Given the description of an element on the screen output the (x, y) to click on. 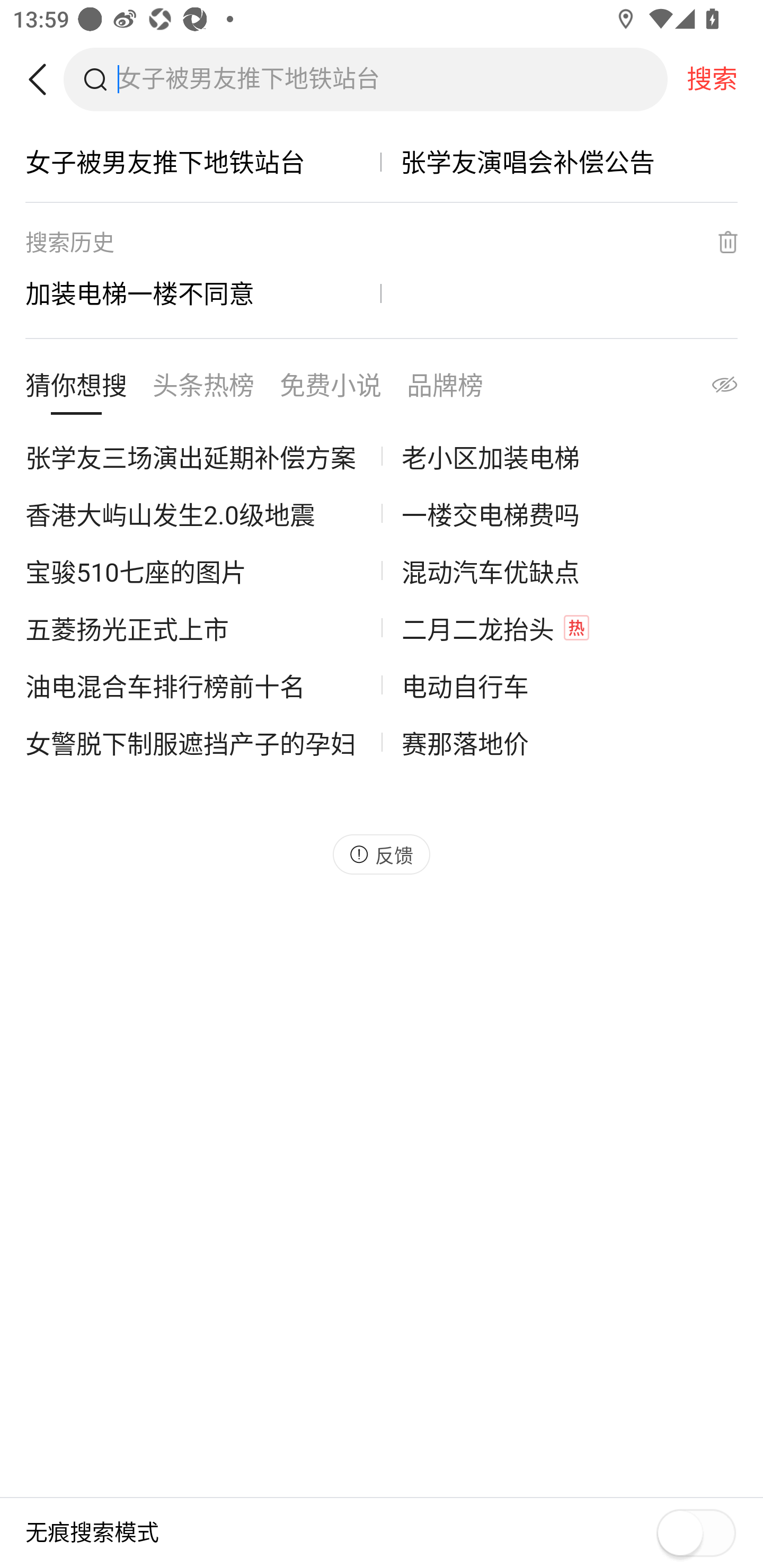
搜索框，女子被男友推下地铁站台 (392, 79)
搜索 (711, 79)
返回 (44, 79)
女子被男友推下地铁站台，链接, 女子被男友推下地铁站台 (203, 162)
张学友演唱会补偿公告，链接, 张学友演唱会补偿公告 (559, 162)
删除搜索历史 (716, 242)
加装电梯一楼不同意，链接, 加装电梯一楼不同意 (203, 292)
猜你想搜 按钮 已选中 (76, 389)
头条热榜 按钮 (203, 389)
免费小说 按钮 (330, 389)
品牌榜 按钮 (444, 389)
隐藏全部推荐词内容 按钮 (706, 389)
反馈, 按钮 (381, 854)
